Given the description of an element on the screen output the (x, y) to click on. 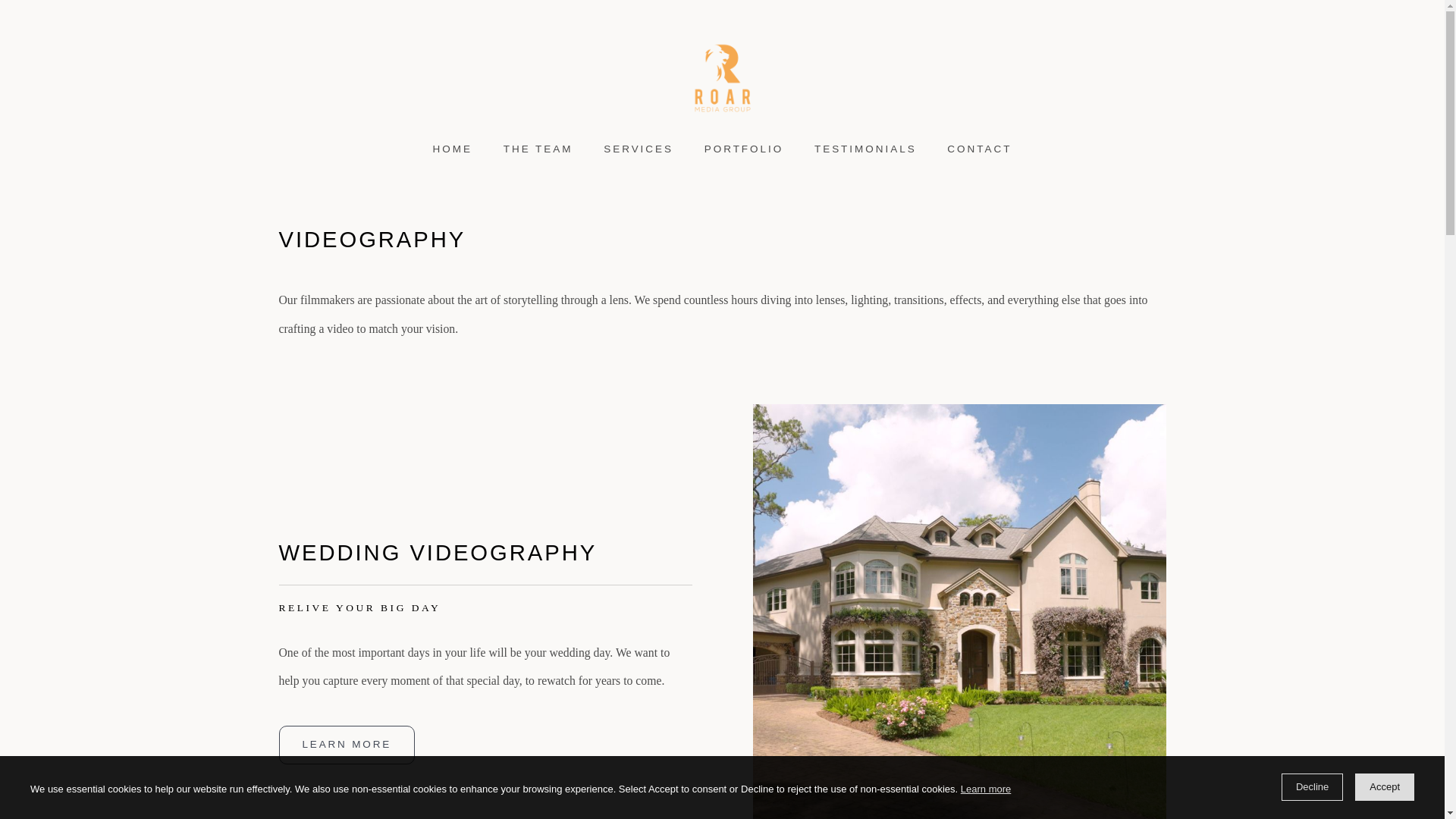
CONTACT (979, 149)
HOME (451, 149)
LEARN MORE (346, 744)
PORTFOLIO (743, 149)
SERVICES (638, 149)
TESTIMONIALS (865, 149)
Decline (1311, 786)
Learn more (985, 788)
THE TEAM (538, 149)
Accept (1384, 786)
